Given the description of an element on the screen output the (x, y) to click on. 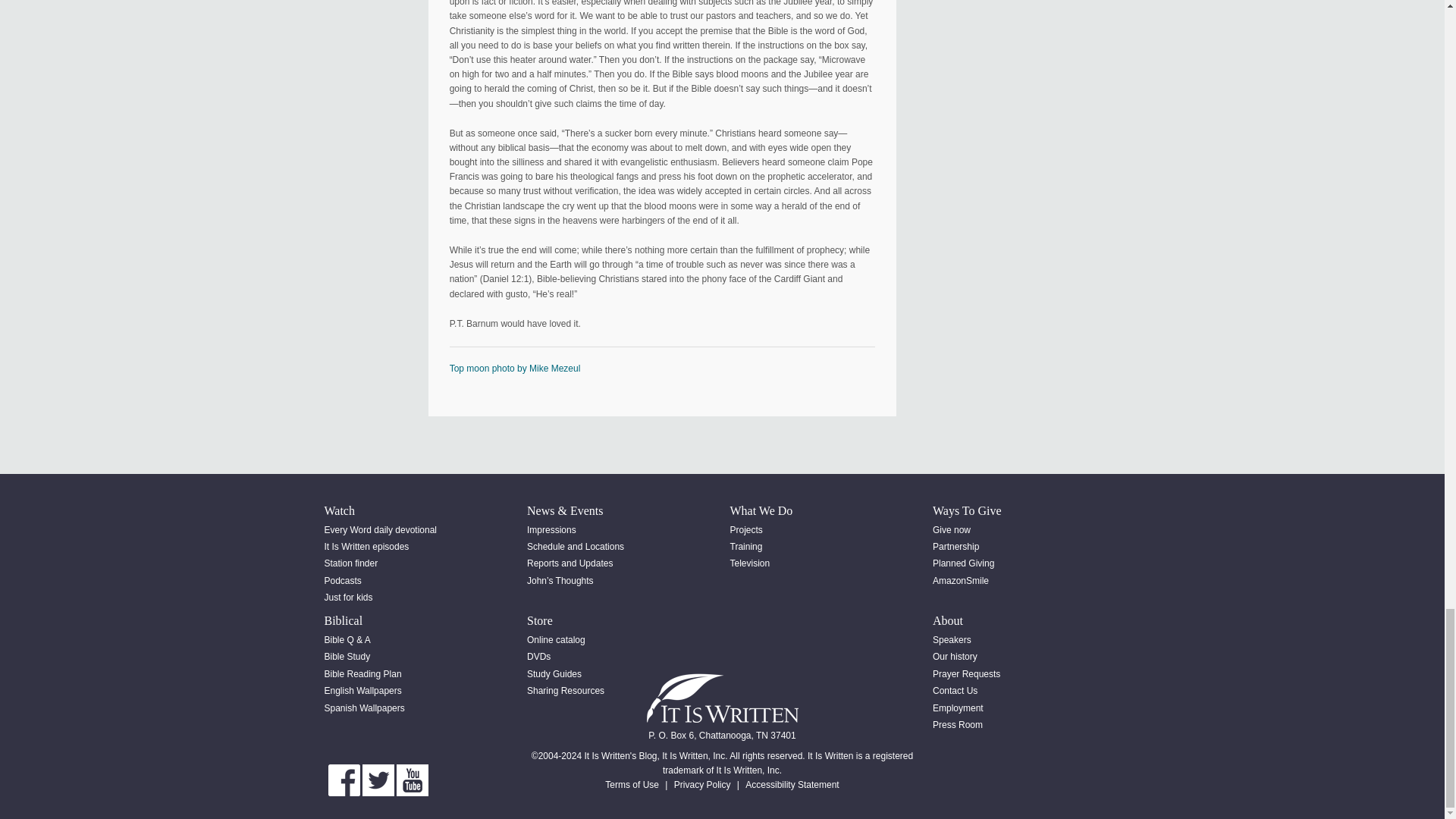
It Is Written on Twitter (378, 780)
It Is Written on Youtube (412, 780)
It Is Written on Facebook (343, 780)
